Given the description of an element on the screen output the (x, y) to click on. 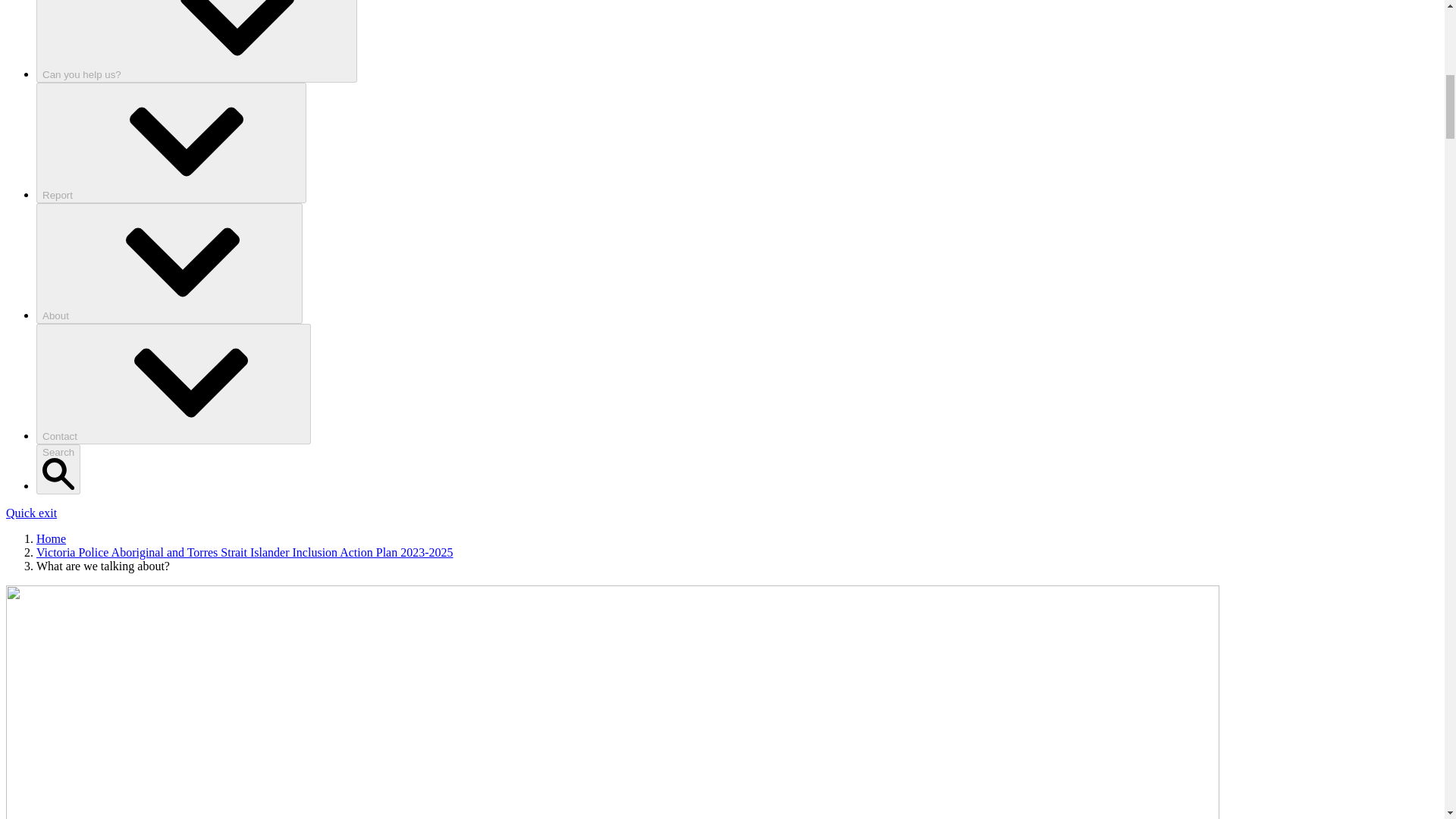
Home (50, 538)
Quick exit (30, 512)
